Given the description of an element on the screen output the (x, y) to click on. 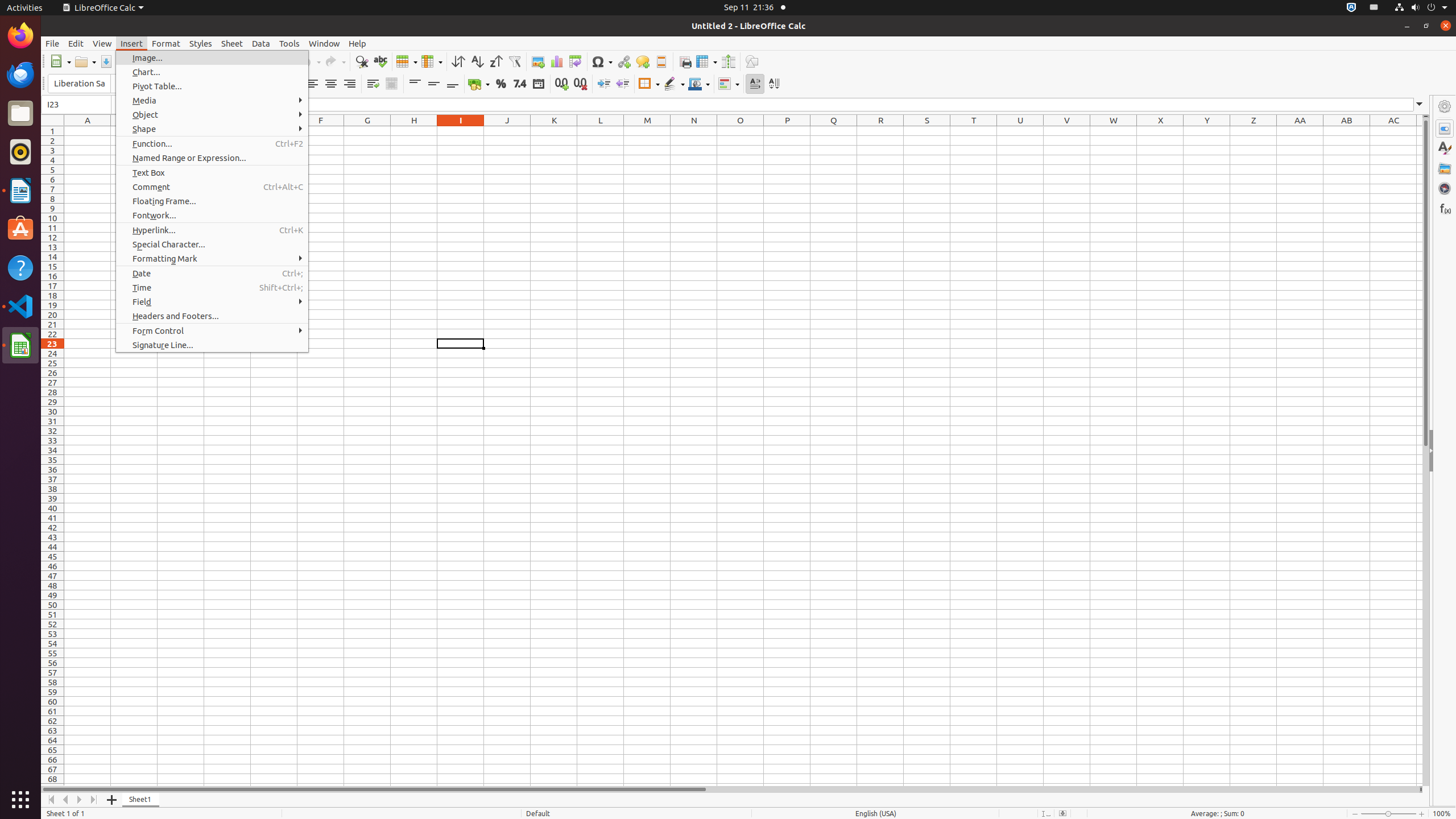
M1 Element type: table-cell (646, 130)
